Given the description of an element on the screen output the (x, y) to click on. 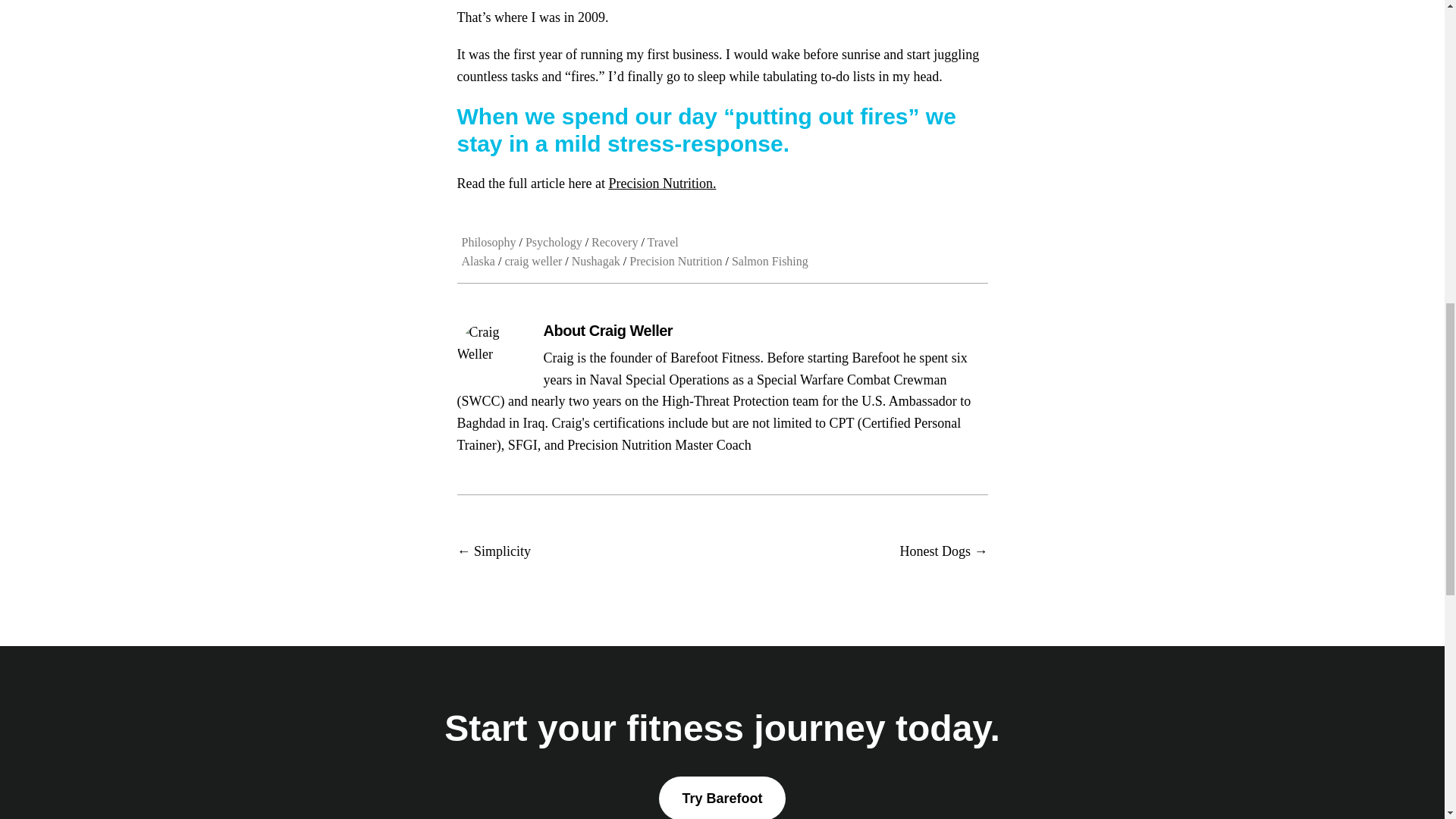
Travel (662, 241)
Precision Nutrition (675, 260)
Try Barefoot (721, 797)
Recovery (614, 241)
Psychology (553, 241)
craig weller (532, 260)
Salmon Fishing (770, 260)
Philosophy (488, 241)
Nushagak (596, 260)
Alaska (478, 260)
Precision Nutrition. (662, 183)
